Given the description of an element on the screen output the (x, y) to click on. 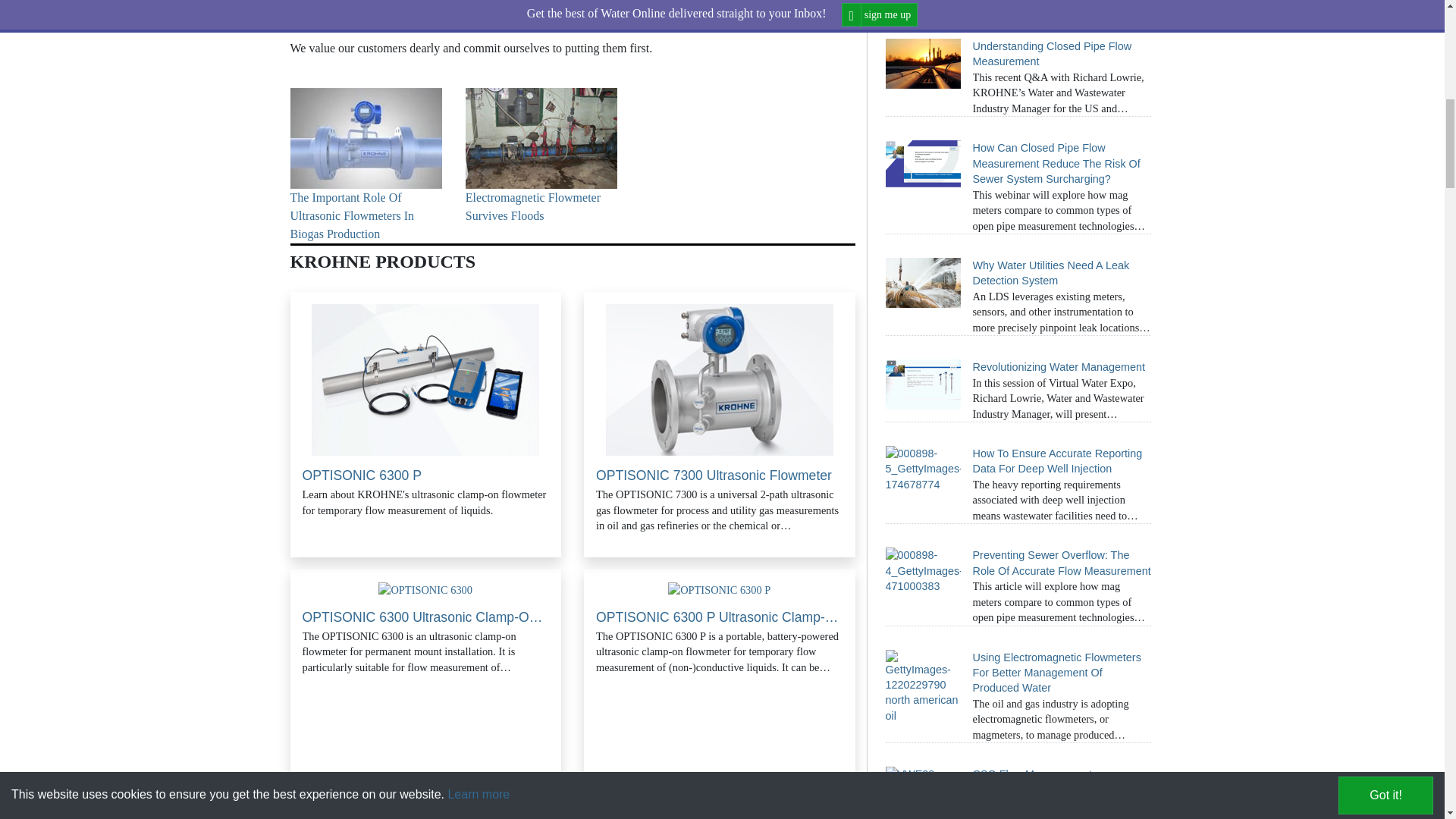
OPTISONIC 6300 P Ultrasonic Clamp-On Flowmeter (719, 589)
OPTISONIC 6300 Ultrasonic Clamp-On Flowmeter  (424, 589)
OPTISONIC 6300 P (424, 379)
OPTISONIC 7300 Ultrasonic Flowmeter (718, 379)
